Given the description of an element on the screen output the (x, y) to click on. 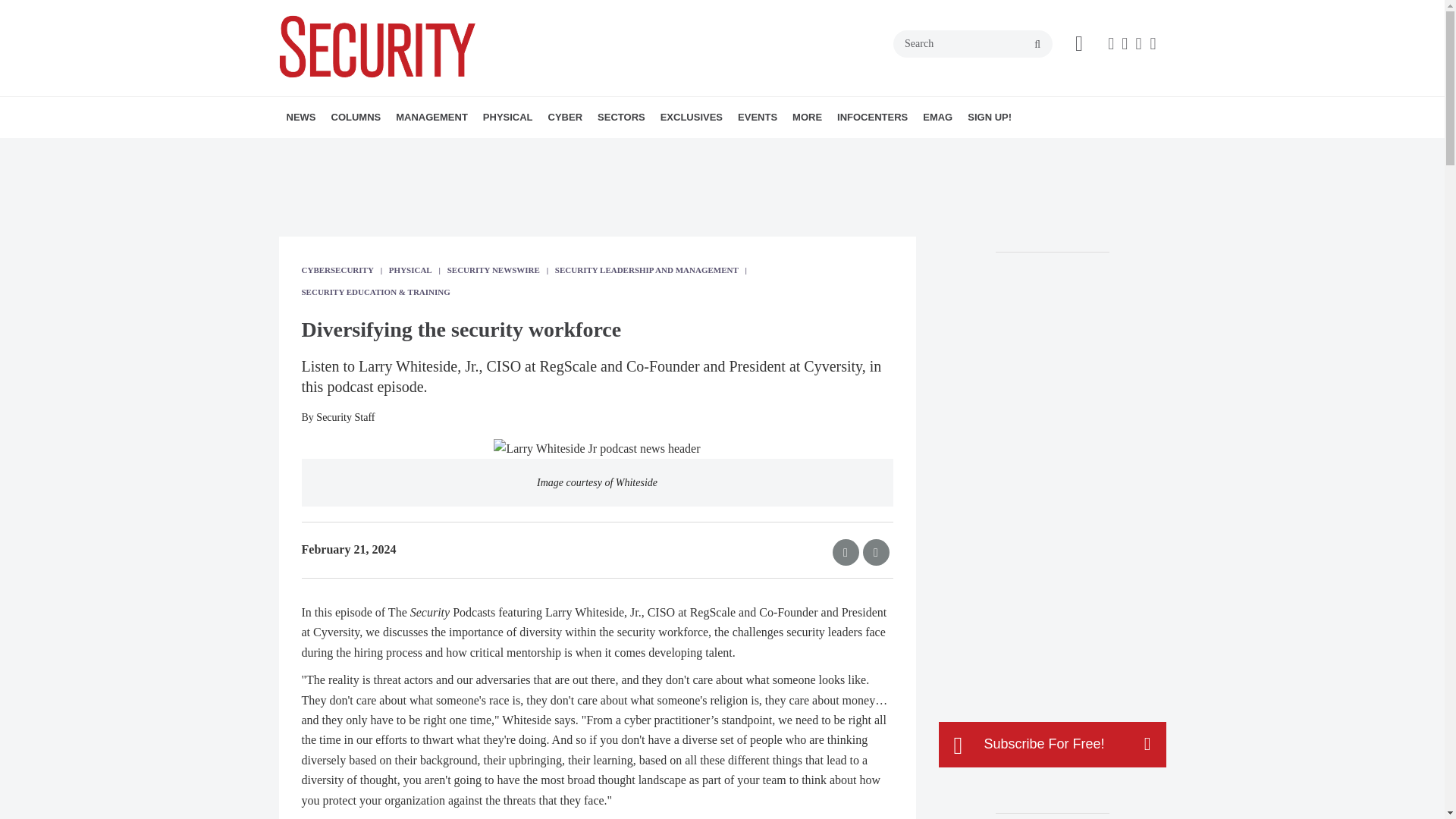
ACCESS MANAGEMENT (570, 150)
MANAGEMENT (432, 117)
SECURITY NEWSWIRE (373, 150)
IDENTITY MANAGEMENT (583, 150)
CYBER (565, 117)
search (1037, 44)
PHYSICAL (508, 117)
CAREER INTELLIGENCE (436, 150)
ENTERPRISE SERVICES (490, 150)
COLUMNS (355, 117)
LEADERSHIP MANAGEMENT (483, 150)
MORE (641, 150)
Search (972, 43)
CYBER TACTICS (417, 150)
SECTORS (620, 117)
